Given the description of an element on the screen output the (x, y) to click on. 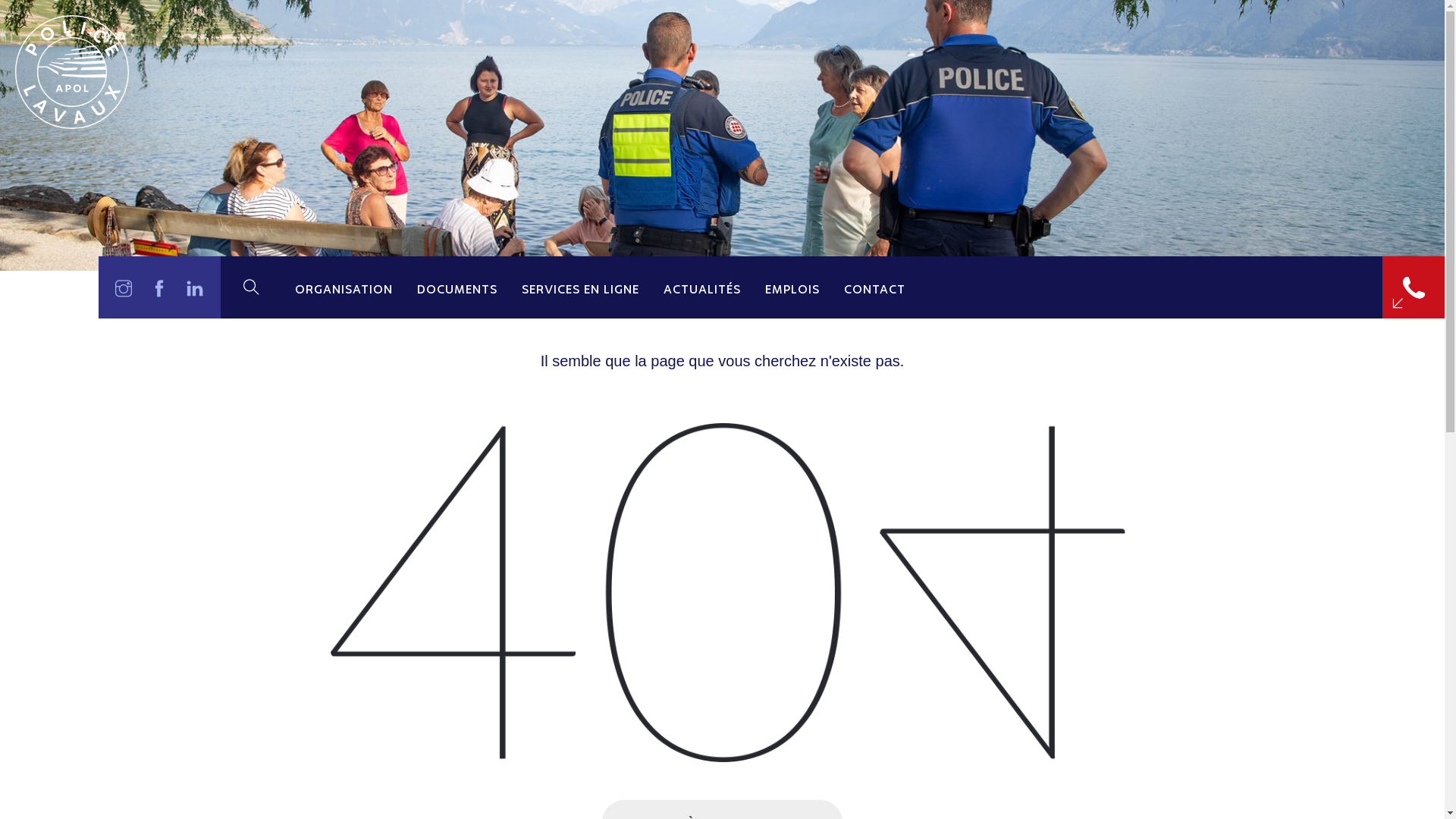
Facebook Element type: hover (159, 287)
SERVICES EN LIGNE Element type: text (580, 287)
Instagram Element type: hover (123, 287)
ORGANISATION Element type: text (343, 287)
LinkedIn Element type: hover (195, 287)
EMPLOIS Element type: text (792, 287)
CONTACT Element type: text (874, 287)
DOCUMENTS Element type: text (456, 287)
